Given the description of an element on the screen output the (x, y) to click on. 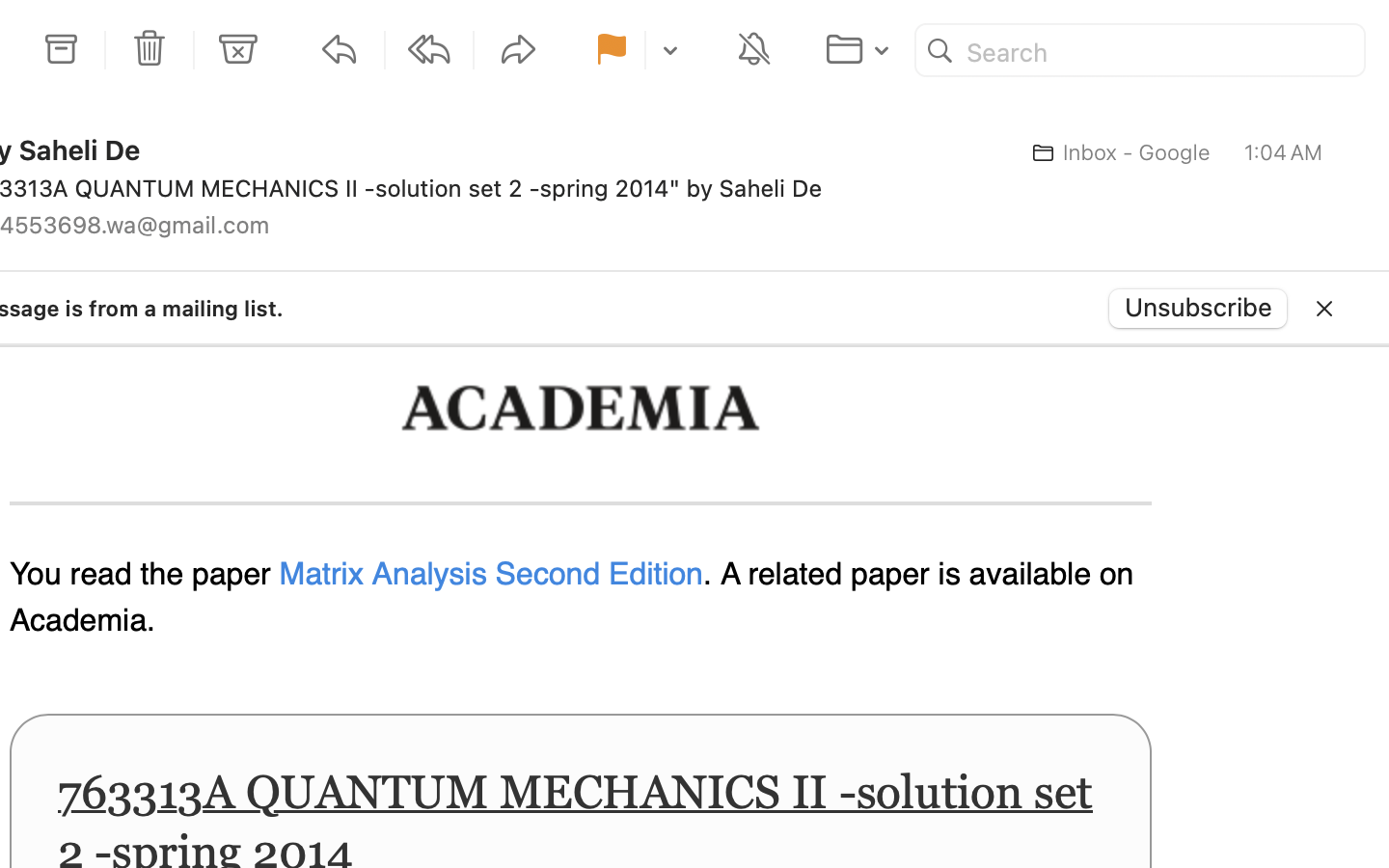
Matrix Analysis Second Edition Element type: AXStaticText (490, 574)
You read the paper Element type: AXStaticText (144, 574)
. A related paper is available on Academia. Element type: AXStaticText (571, 597)
1:04 AM Element type: AXStaticText (1283, 151)
￼Inbox - Google Element type: AXStaticText (1114, 151)
